Given the description of an element on the screen output the (x, y) to click on. 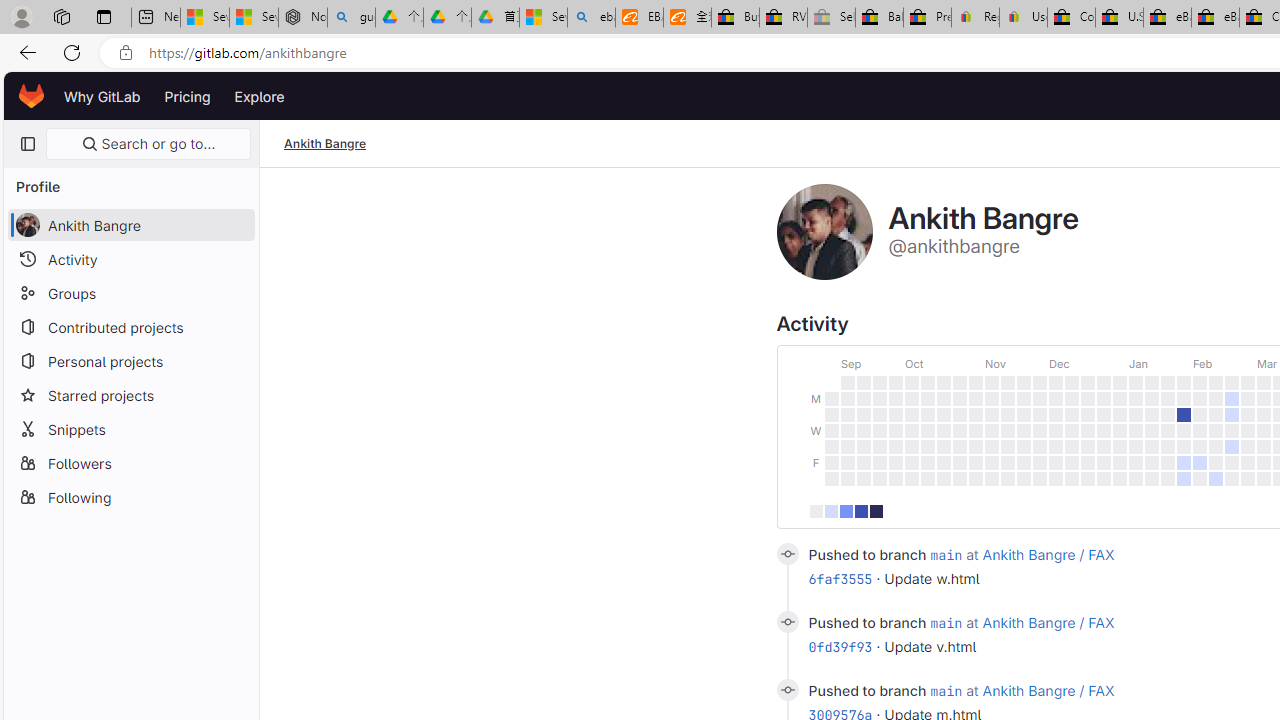
Pricing (187, 95)
